Given the description of an element on the screen output the (x, y) to click on. 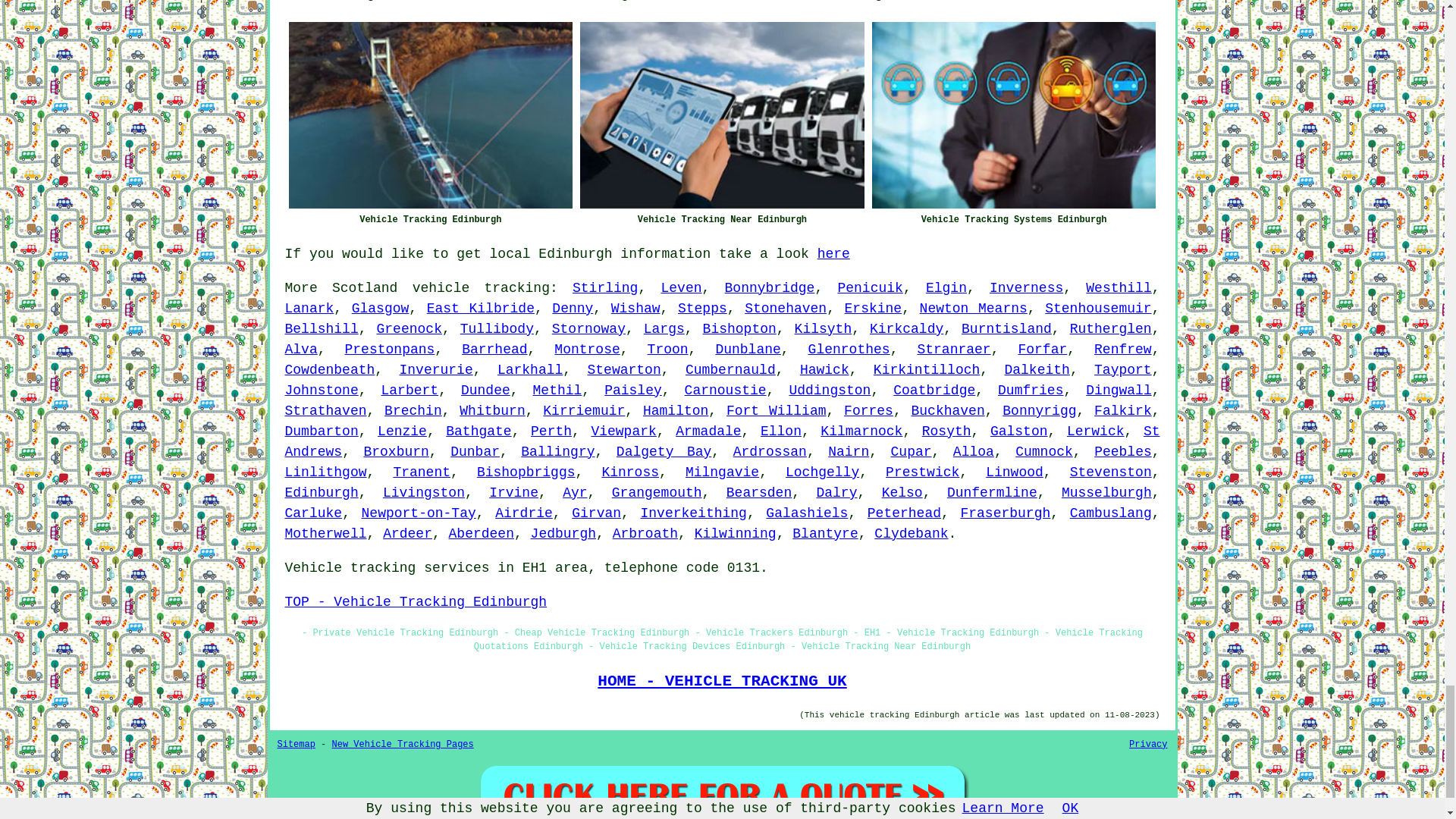
Vehicle Tracking Systems Edinburgh UK (1014, 115)
Vehicle Tracking Edinburgh (430, 115)
Vehicle Tracking Near Me Edinburgh (721, 115)
